Given the description of an element on the screen output the (x, y) to click on. 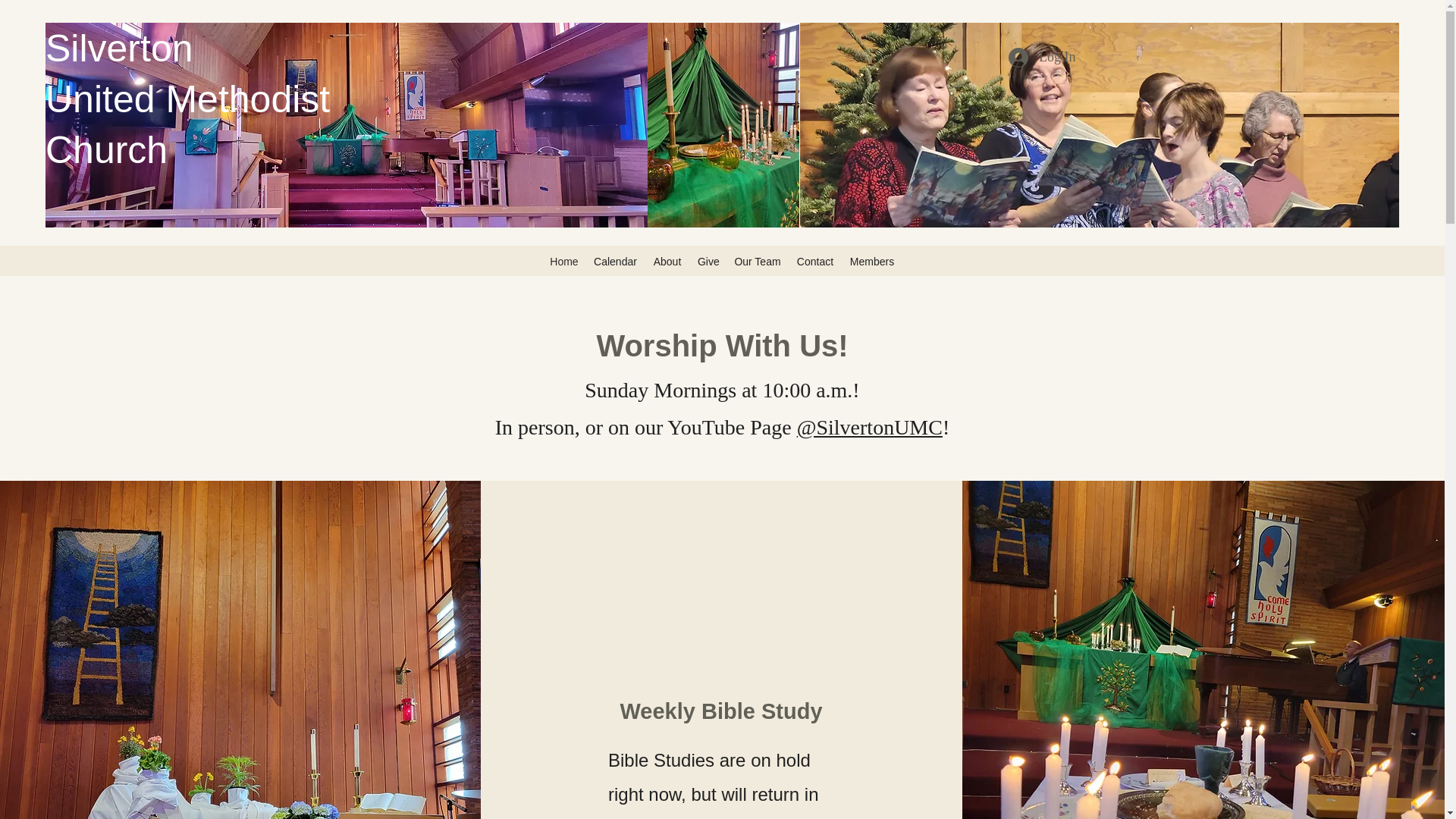
Calendar (615, 261)
About (667, 261)
Members (871, 261)
Our Team (757, 261)
Log In (1041, 57)
Give (708, 261)
Home (563, 261)
Contact (815, 261)
